Given the description of an element on the screen output the (x, y) to click on. 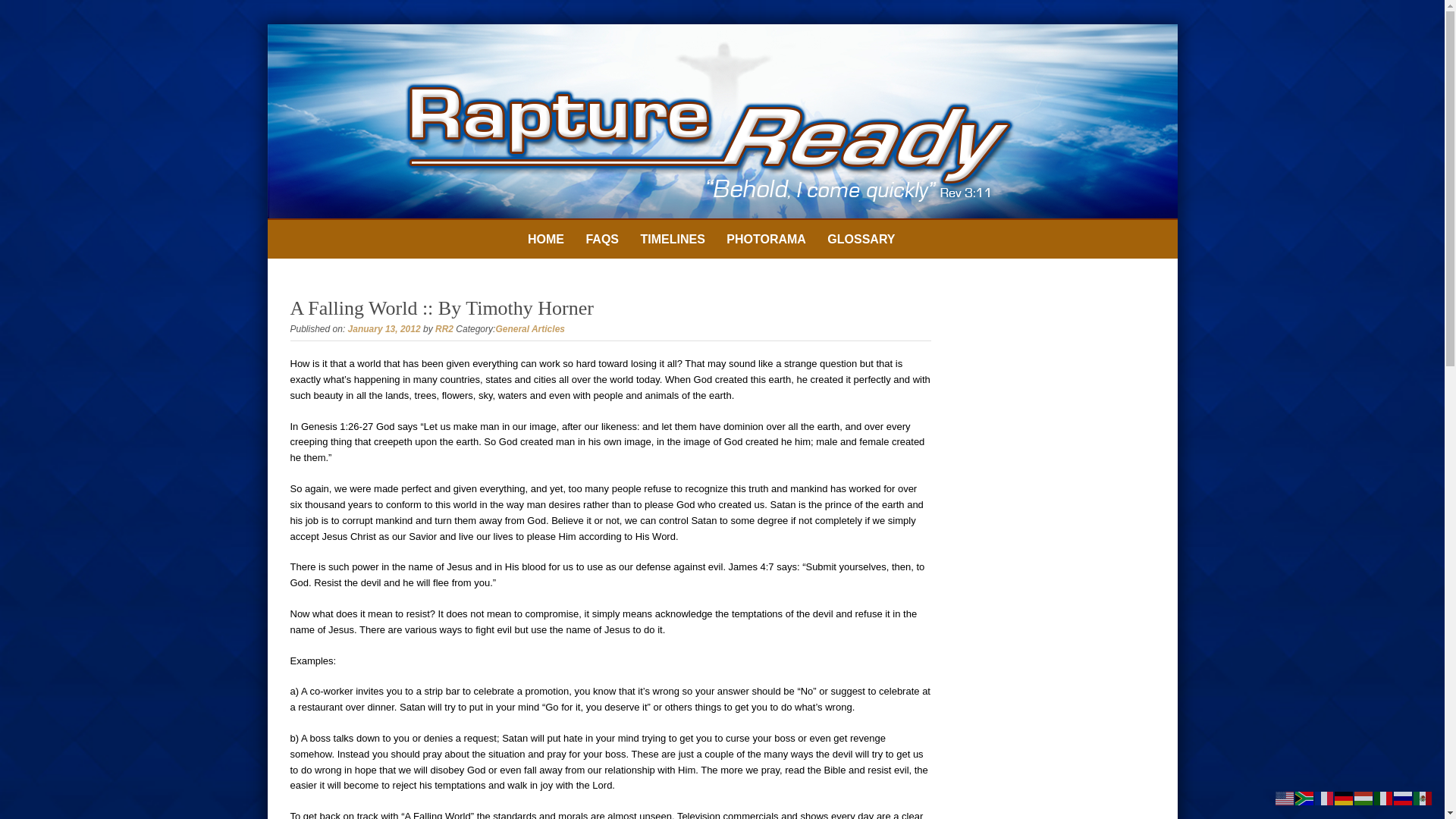
PHOTORAMA (766, 239)
GLOSSARY (861, 239)
TIMELINES (671, 239)
January 13, 2012 (383, 328)
FAQS (601, 239)
General Articles (529, 328)
HOME (545, 239)
RR2 (443, 328)
